Given the description of an element on the screen output the (x, y) to click on. 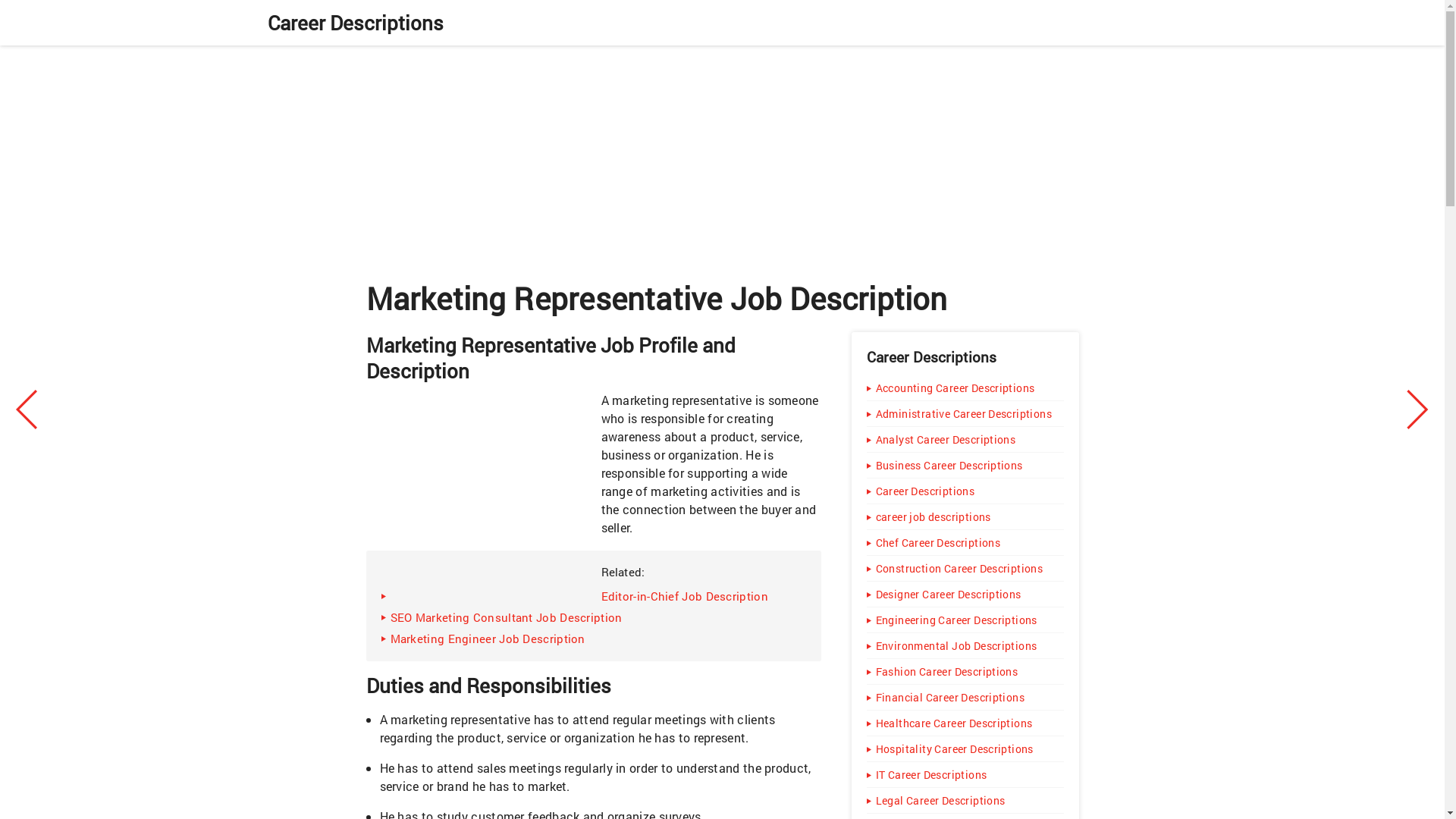
Designer Career Descriptions (964, 594)
Financial Career Descriptions (964, 697)
SEO Marketing Consultant Job Description (592, 617)
Fashion Career Descriptions (964, 671)
Environmental Job Descriptions (964, 645)
Analyst Career Descriptions (964, 439)
Chef Career Descriptions (964, 542)
Career Descriptions (354, 22)
Engineering Career Descriptions (964, 619)
Hospitality Career Descriptions (964, 748)
Business Career Descriptions (964, 464)
career job descriptions (964, 516)
Marketing Engineer Job Description (592, 638)
Healthcare Career Descriptions (964, 722)
